Given the description of an element on the screen output the (x, y) to click on. 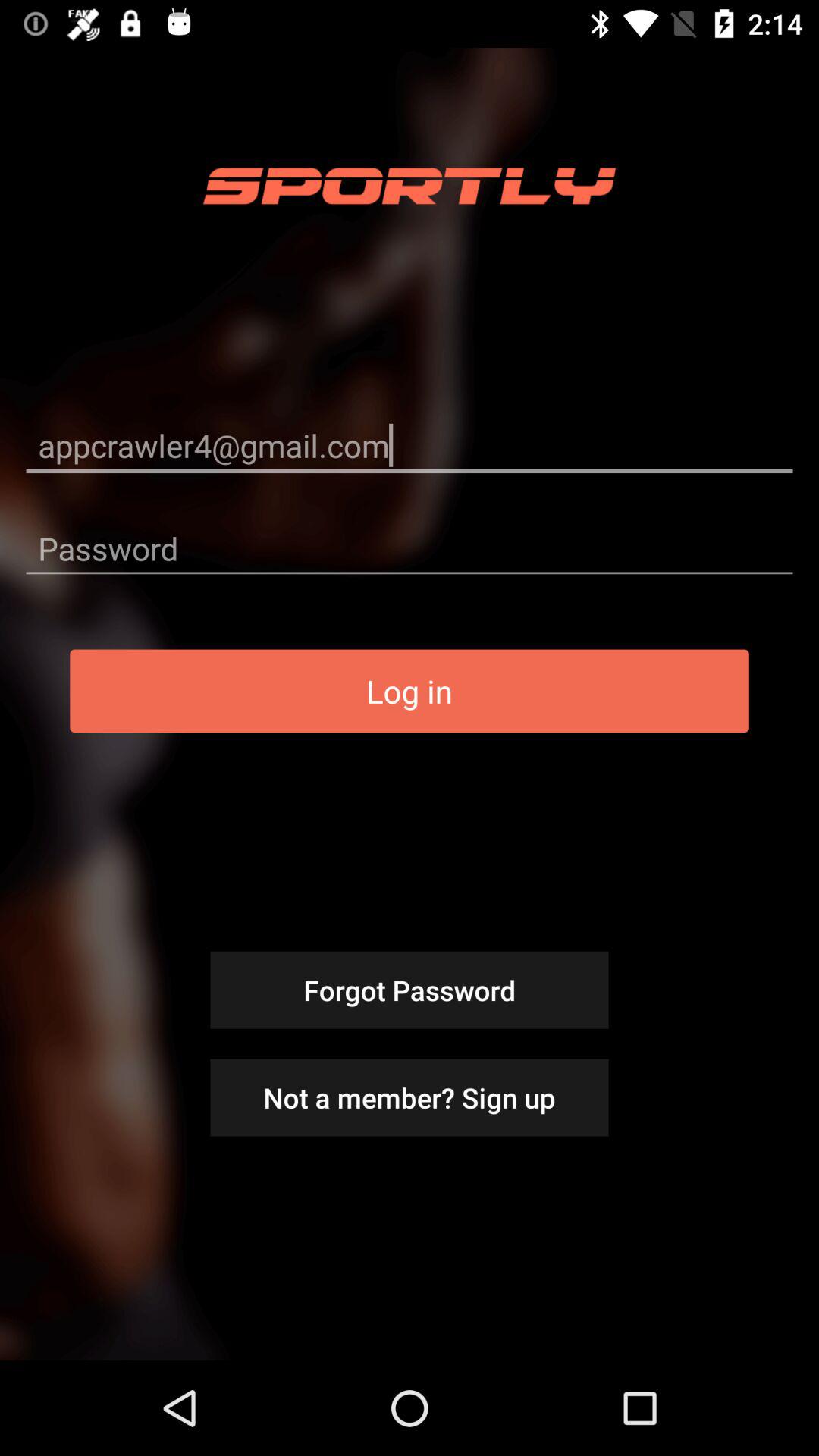
scroll until the log in item (409, 690)
